Given the description of an element on the screen output the (x, y) to click on. 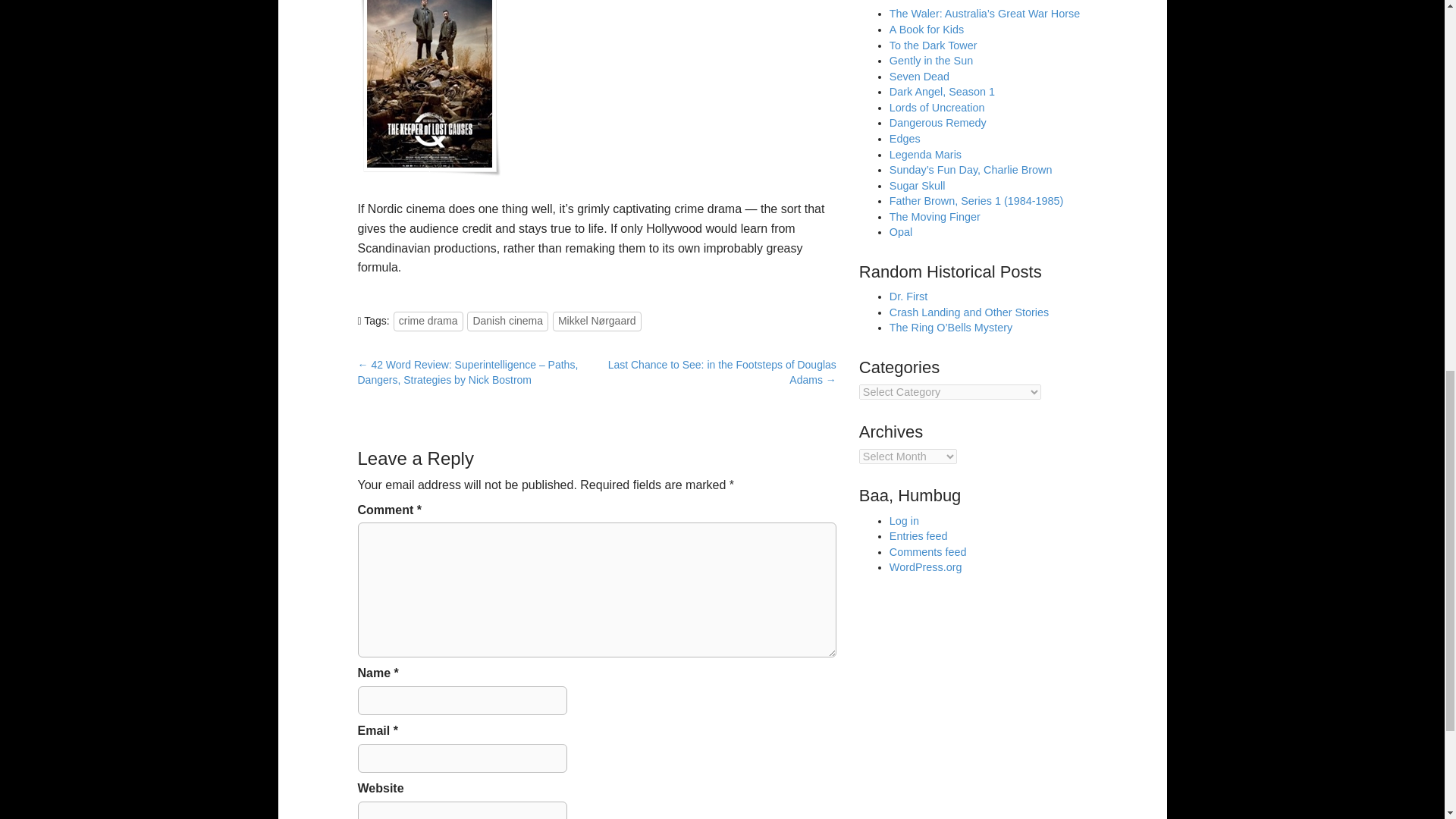
crime drama (428, 321)
To the Dark Tower (932, 45)
Danish cinema (507, 321)
Gently in the Sun (930, 60)
A Book for Kids (926, 29)
